Given the description of an element on the screen output the (x, y) to click on. 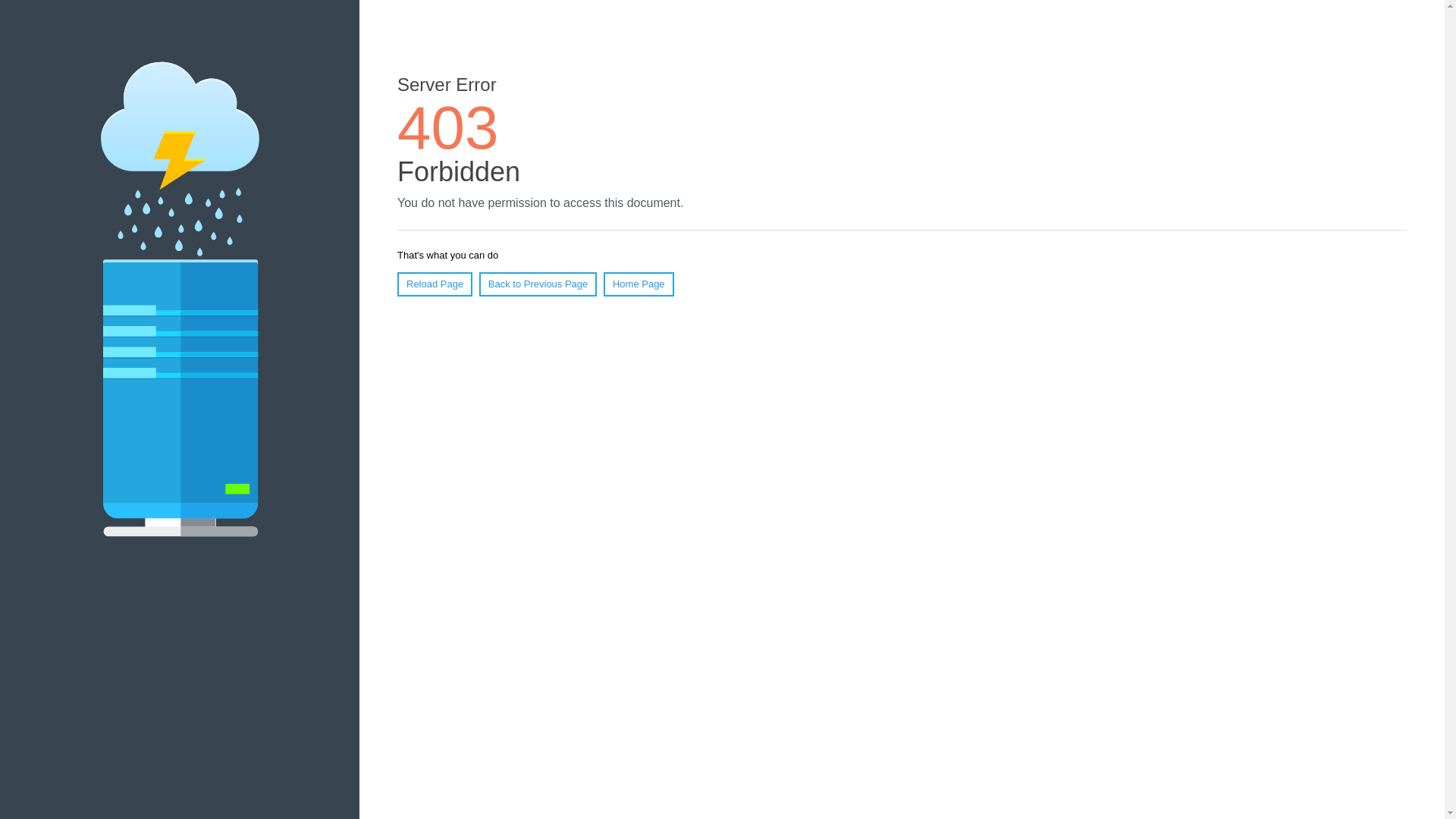
Home Page Element type: text (638, 284)
Reload Page Element type: text (434, 284)
Back to Previous Page Element type: text (538, 284)
